Given the description of an element on the screen output the (x, y) to click on. 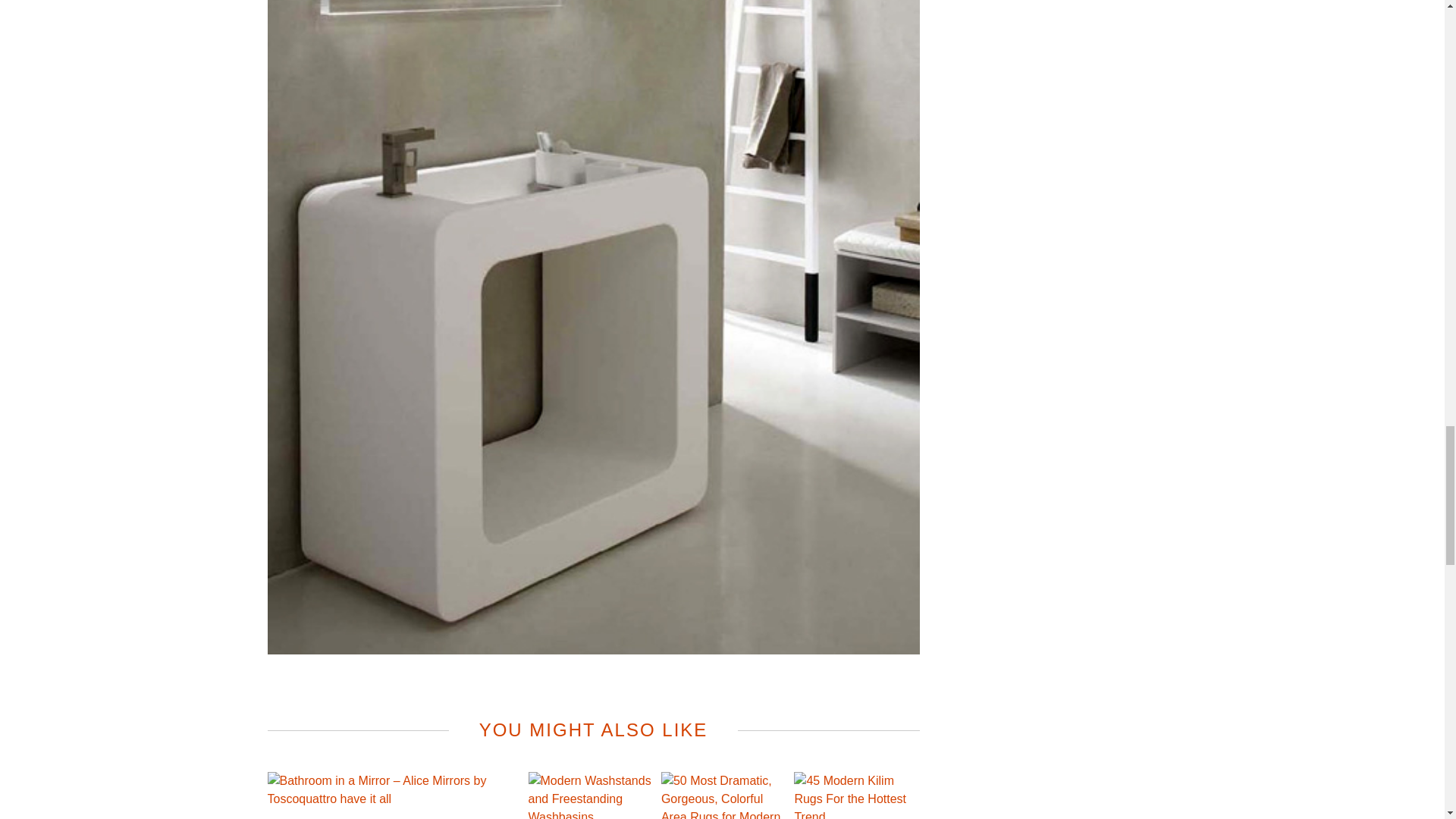
Modern Washstands and Freestanding Washbasins (589, 795)
45 Modern Kilim Rugs For the Hottest Trend (855, 795)
45 Modern Kilim Rugs For the Hottest Trend (855, 795)
Modern Washstands and Freestanding Washbasins (589, 795)
